Given the description of an element on the screen output the (x, y) to click on. 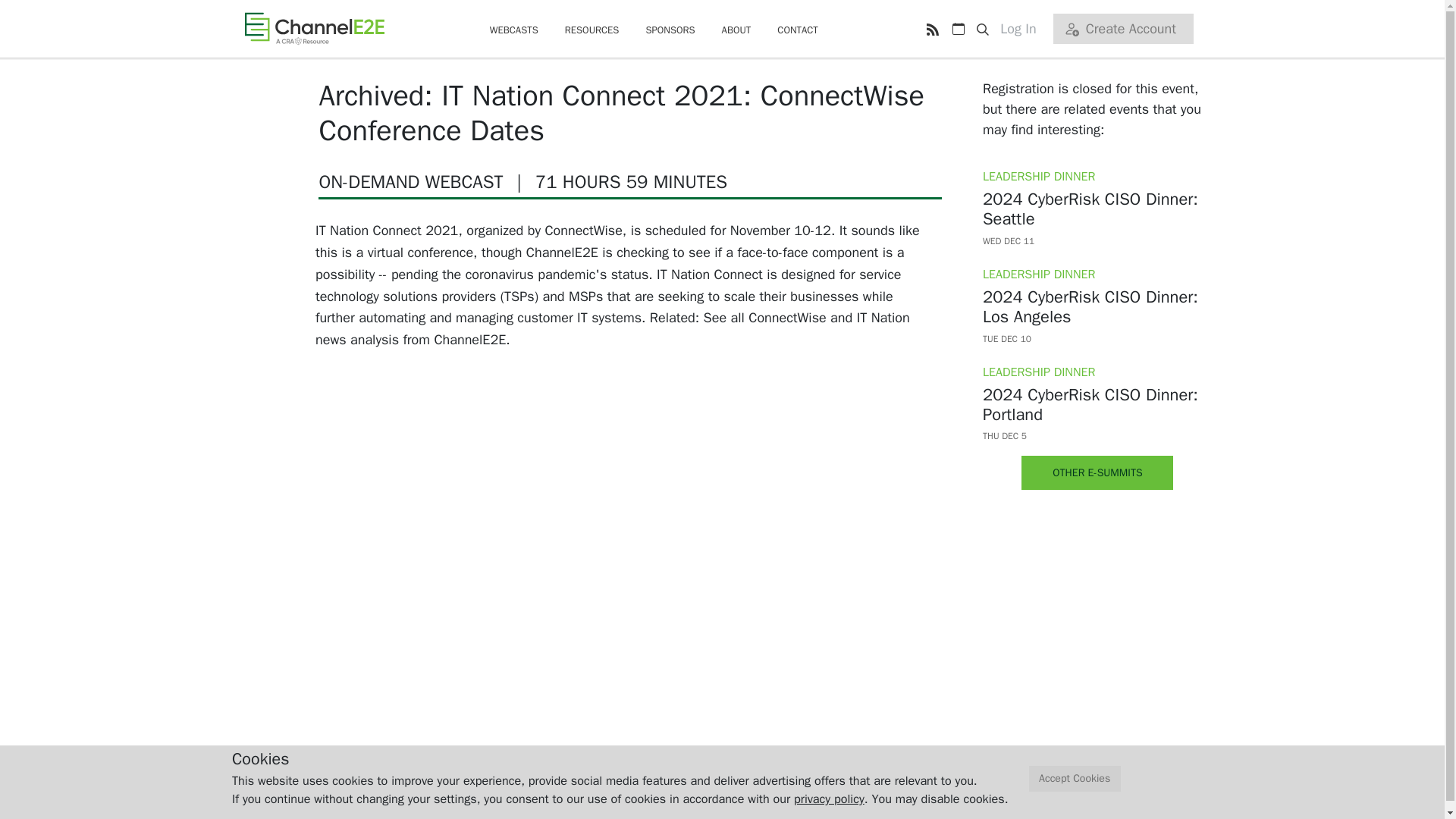
ConnectWise (582, 230)
OTHER E-SUMMITS (1097, 472)
IT Nation news analysis (612, 328)
View Cybersecurity Conference Calendar (957, 28)
2024 CyberRisk CISO Dinner: Portland (1097, 415)
IT Nation Connect 2021 (386, 230)
RESOURCES (592, 30)
CONTACT (797, 30)
ChannelE2E (314, 27)
WEBCASTS (513, 30)
2024 CyberRisk CISO Dinner: Los Angeles (1097, 318)
2024 CyberRisk CISO Dinner: Seattle (1097, 220)
Create Account (1122, 29)
all ConnectWise (778, 317)
Log In (1023, 29)
